Given the description of an element on the screen output the (x, y) to click on. 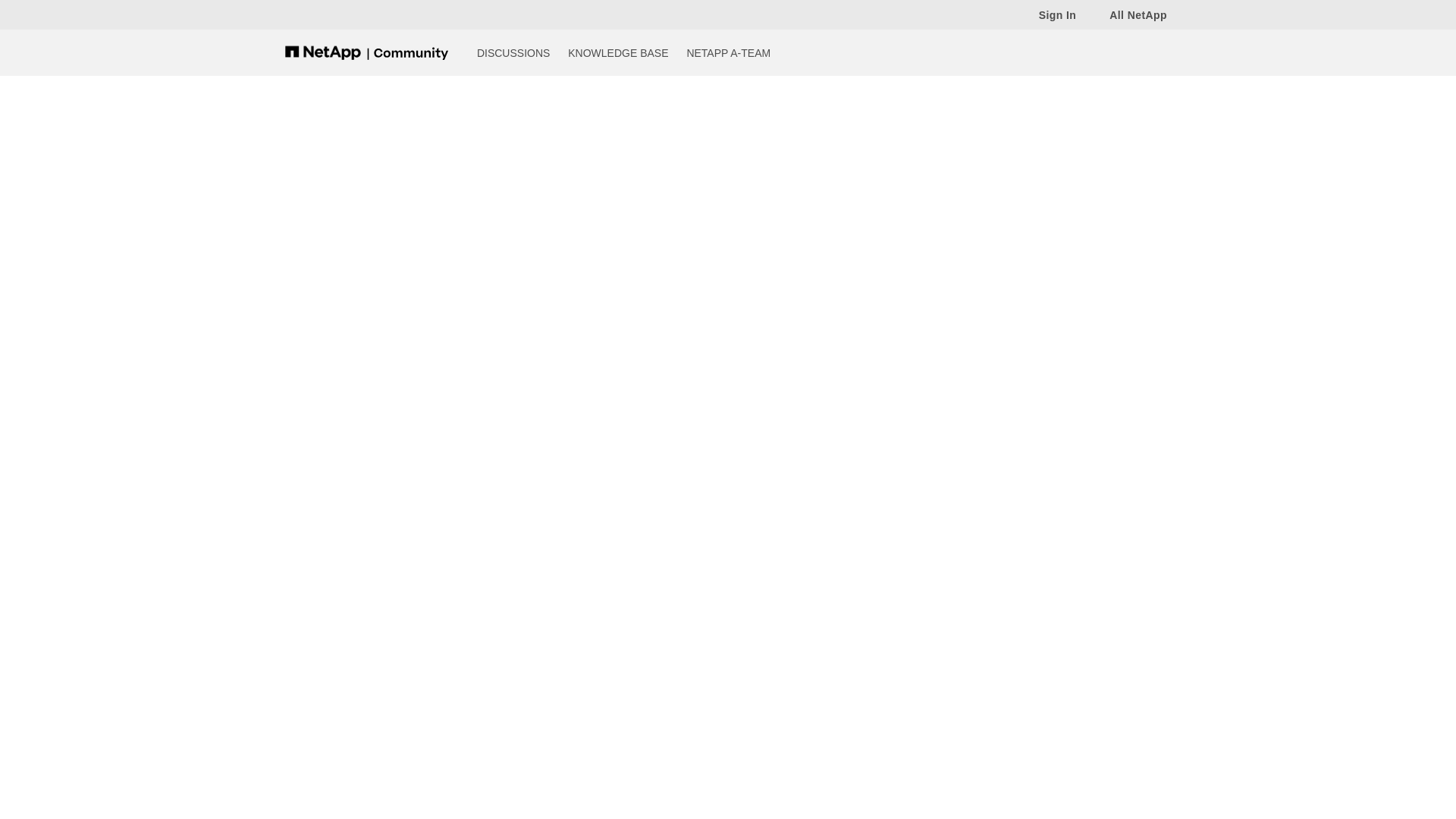
Sign In (1050, 14)
KNOWLEDGE BASE (617, 52)
All NetApp (1130, 14)
All NetApp (1130, 14)
NETAPP A-TEAM (727, 52)
DISCUSSIONS (513, 52)
